Given the description of an element on the screen output the (x, y) to click on. 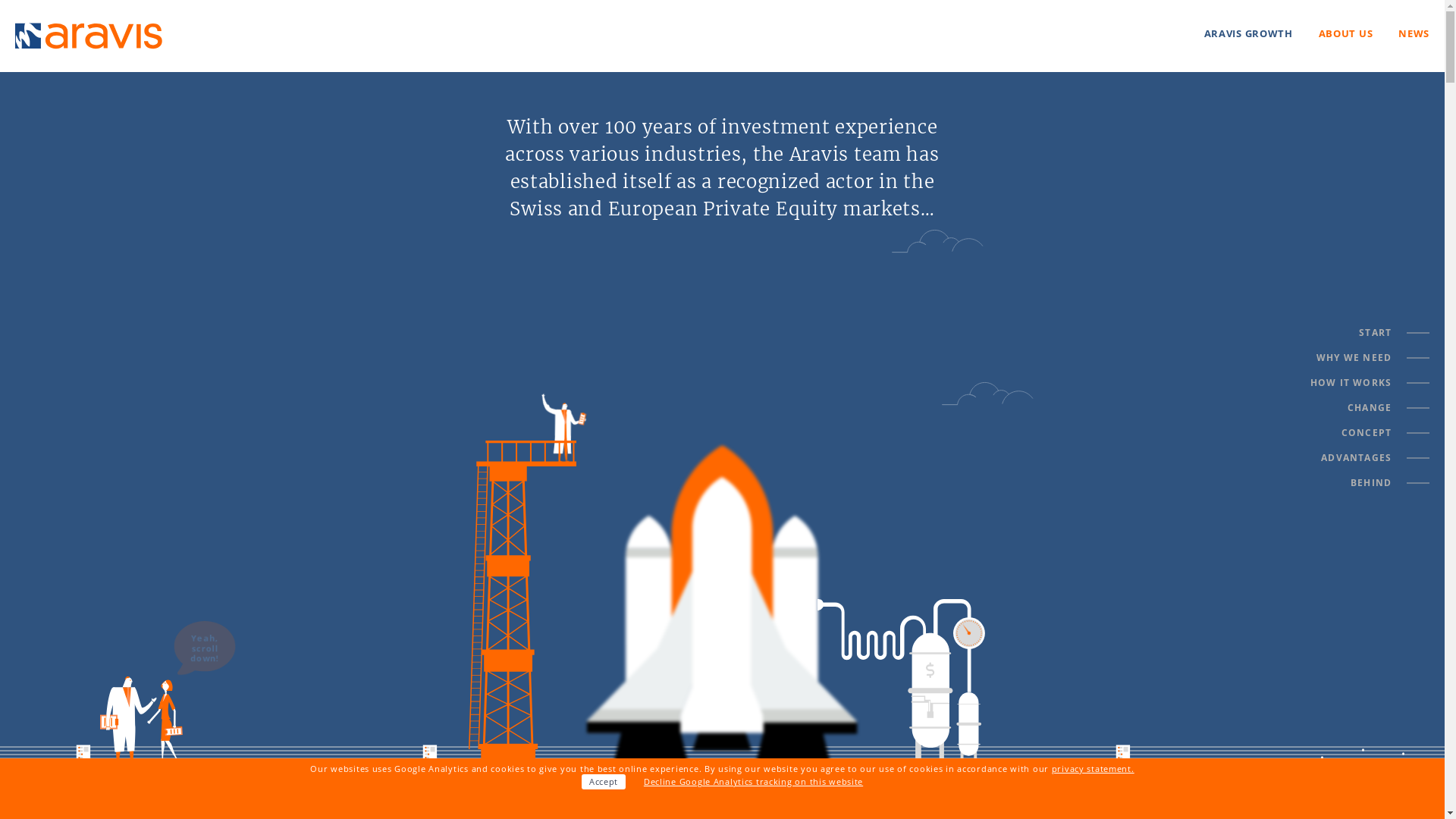
Decline Google Analytics tracking on this website Element type: text (752, 781)
ABOUT US Element type: text (1345, 33)
privacy statement. Element type: text (1092, 768)
NEWS Element type: text (1413, 33)
Accept Element type: text (603, 781)
ARAVIS GROWTH Element type: text (1248, 33)
